Given the description of an element on the screen output the (x, y) to click on. 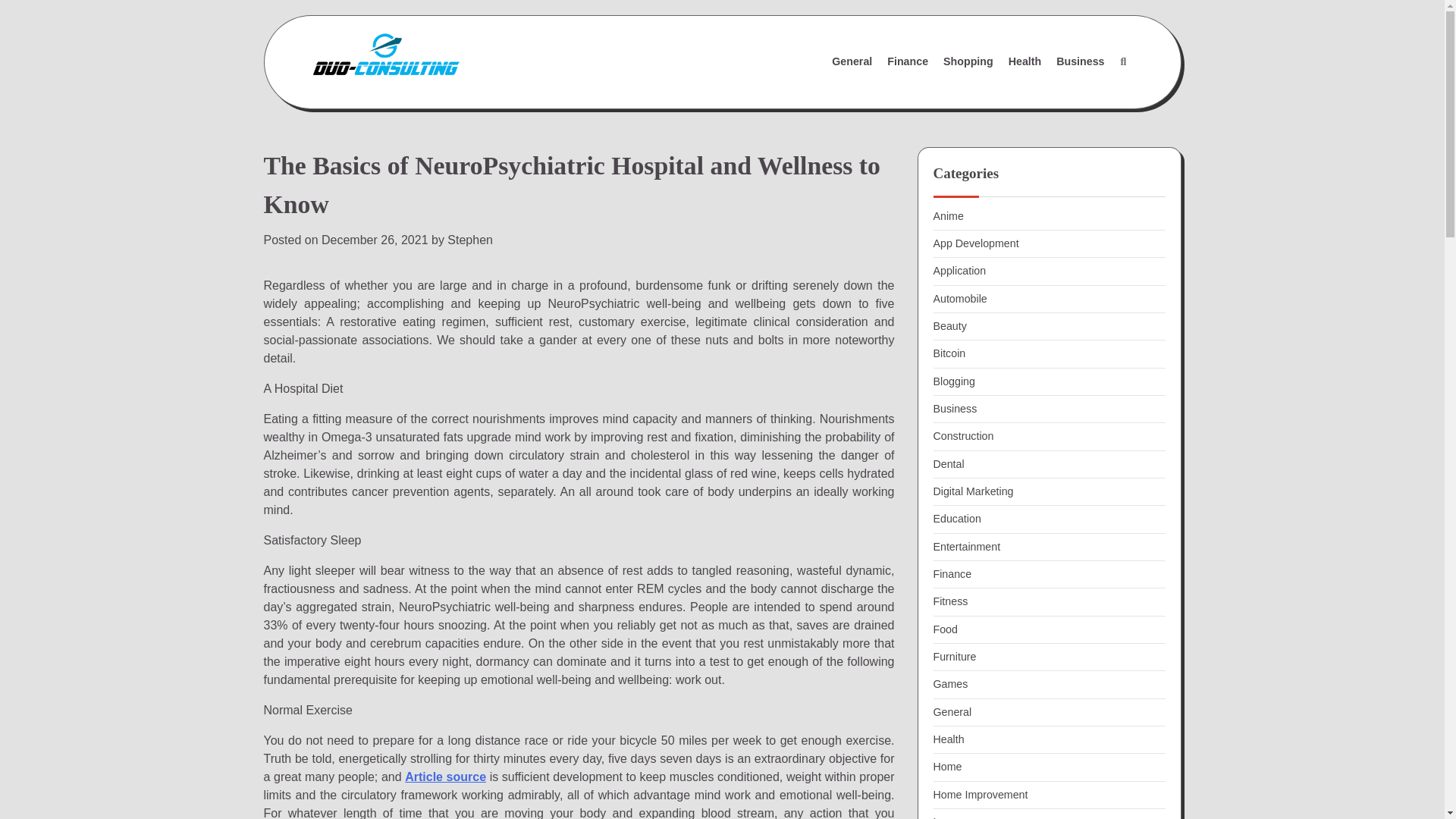
Food (944, 629)
Shopping (968, 60)
Home Improvement (980, 794)
Anime (947, 215)
Digital Marketing (973, 491)
Finance (907, 60)
Stephen (469, 239)
Search (1123, 61)
Education (956, 518)
Games (950, 684)
Automobile (960, 298)
Business (954, 408)
Insurance (956, 817)
Home (946, 766)
Application (959, 270)
